Given the description of an element on the screen output the (x, y) to click on. 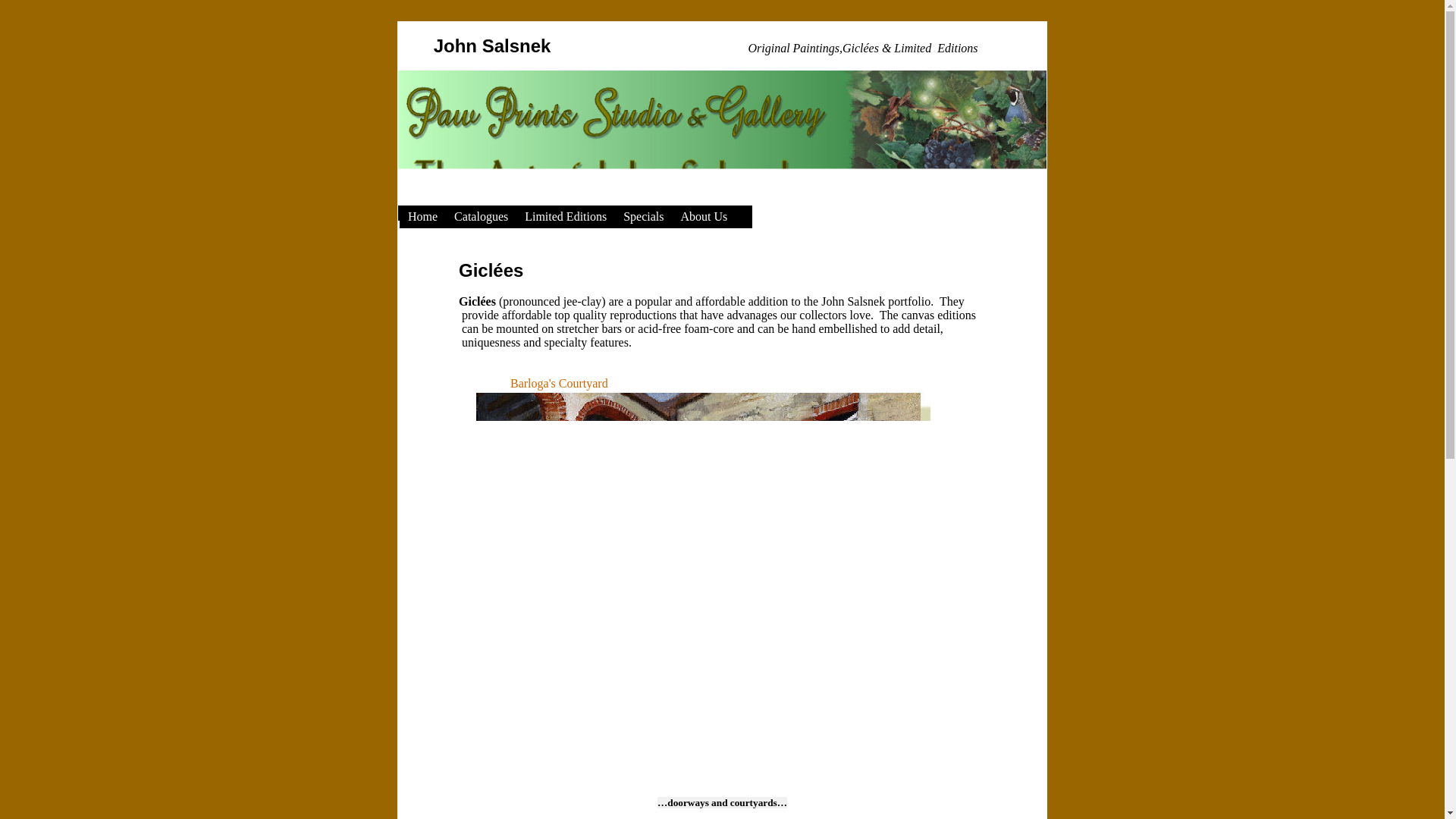
Home (422, 216)
Specials (643, 216)
Limited Editions (565, 216)
Catalogues (480, 216)
About Us (703, 216)
